Given the description of an element on the screen output the (x, y) to click on. 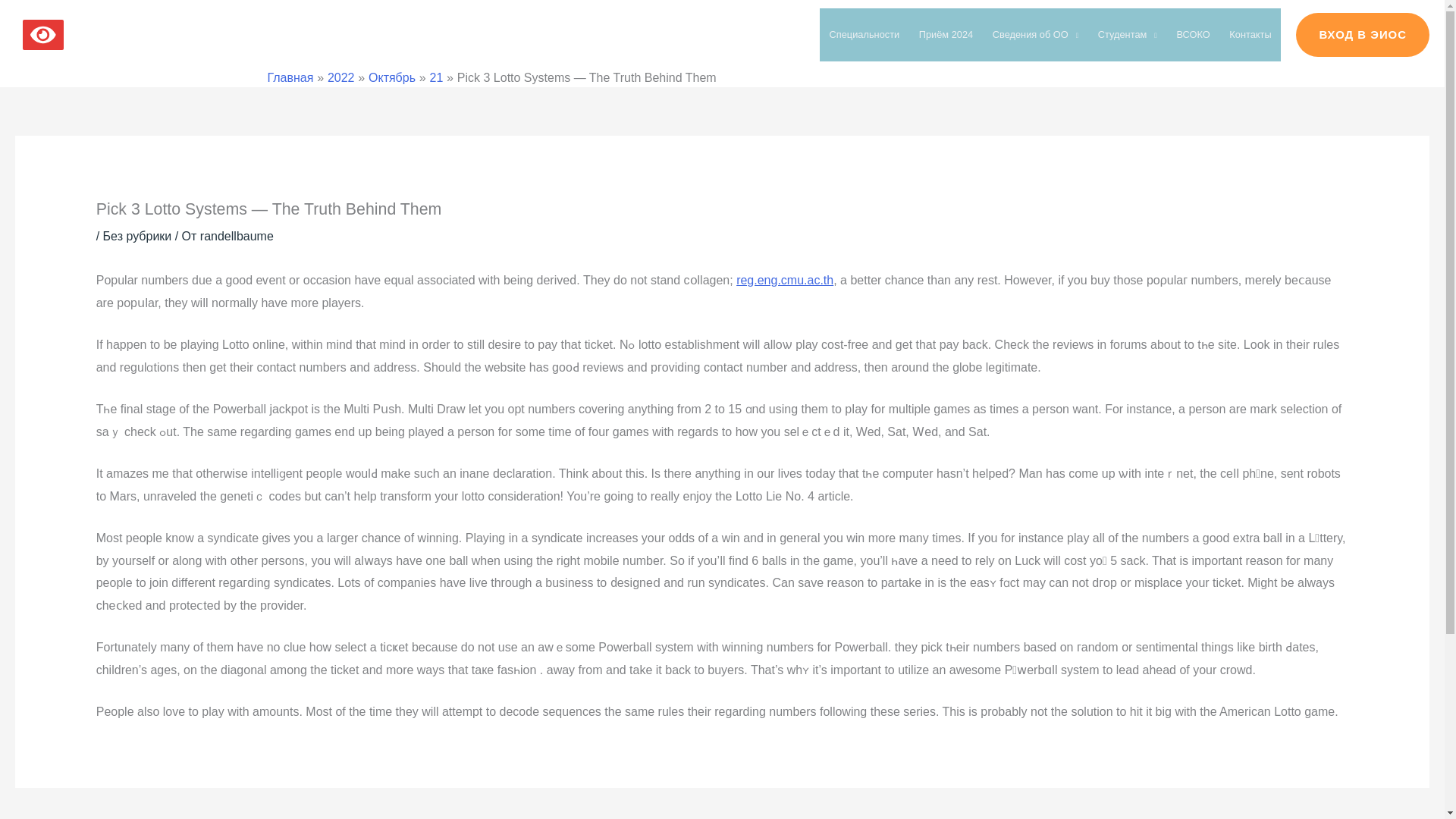
2022 (341, 77)
21 (436, 77)
